Given the description of an element on the screen output the (x, y) to click on. 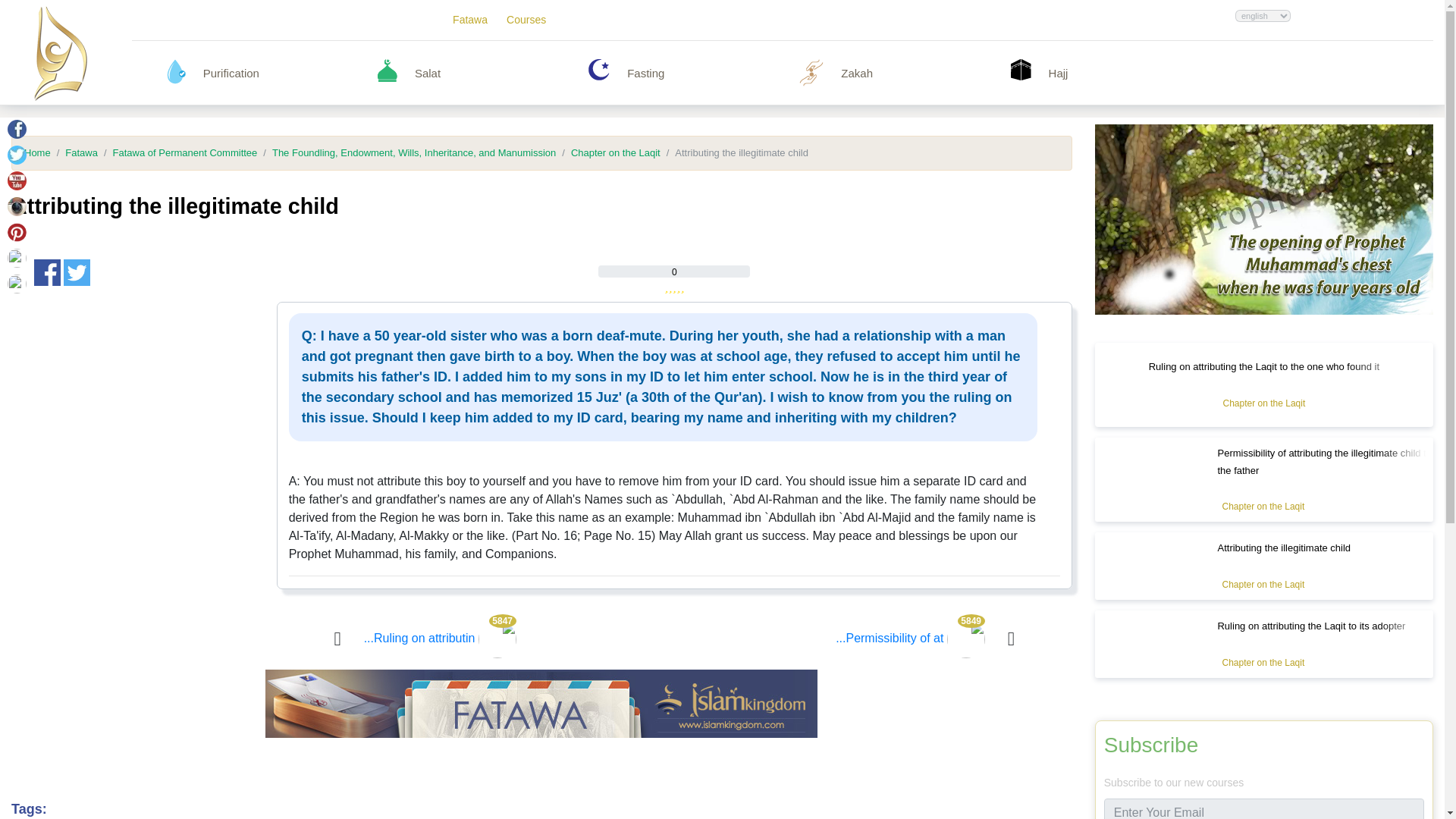
Fatawa (469, 19)
Fatawa (73, 152)
Ruling on attributing the Laqit to the one who found it (440, 637)
Ruling on attributing the Laqit to the one who found it (1263, 366)
Chapter on the Laqit (1262, 403)
Chapter on the Laqit (1262, 506)
Fasting (599, 69)
Hajj (1020, 69)
Purification (282, 73)
Zakah (920, 73)
Attributing the illegitimate child (1284, 547)
Fasting (707, 73)
Chapter on the Laqit (1262, 584)
